Given the description of an element on the screen output the (x, y) to click on. 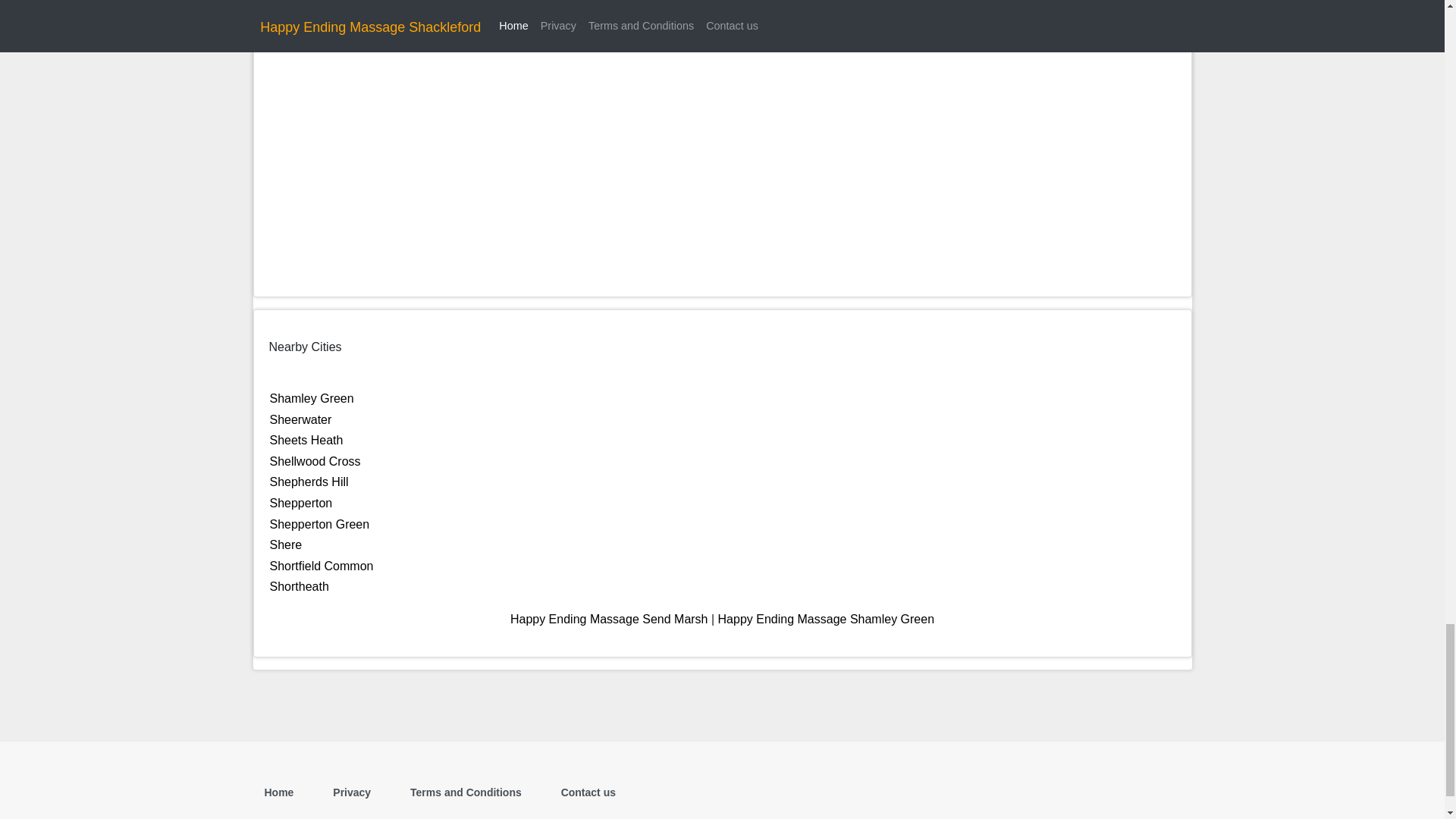
Shepperton Green (319, 523)
Shellwood Cross (315, 461)
Shortheath (299, 585)
Sheerwater (300, 419)
Shepperton (301, 502)
Shortfield Common (321, 565)
Sheets Heath (306, 440)
Shere (285, 544)
Happy Ending Massage Shamley Green (825, 618)
Happy Ending Massage Send Marsh (609, 618)
